Given the description of an element on the screen output the (x, y) to click on. 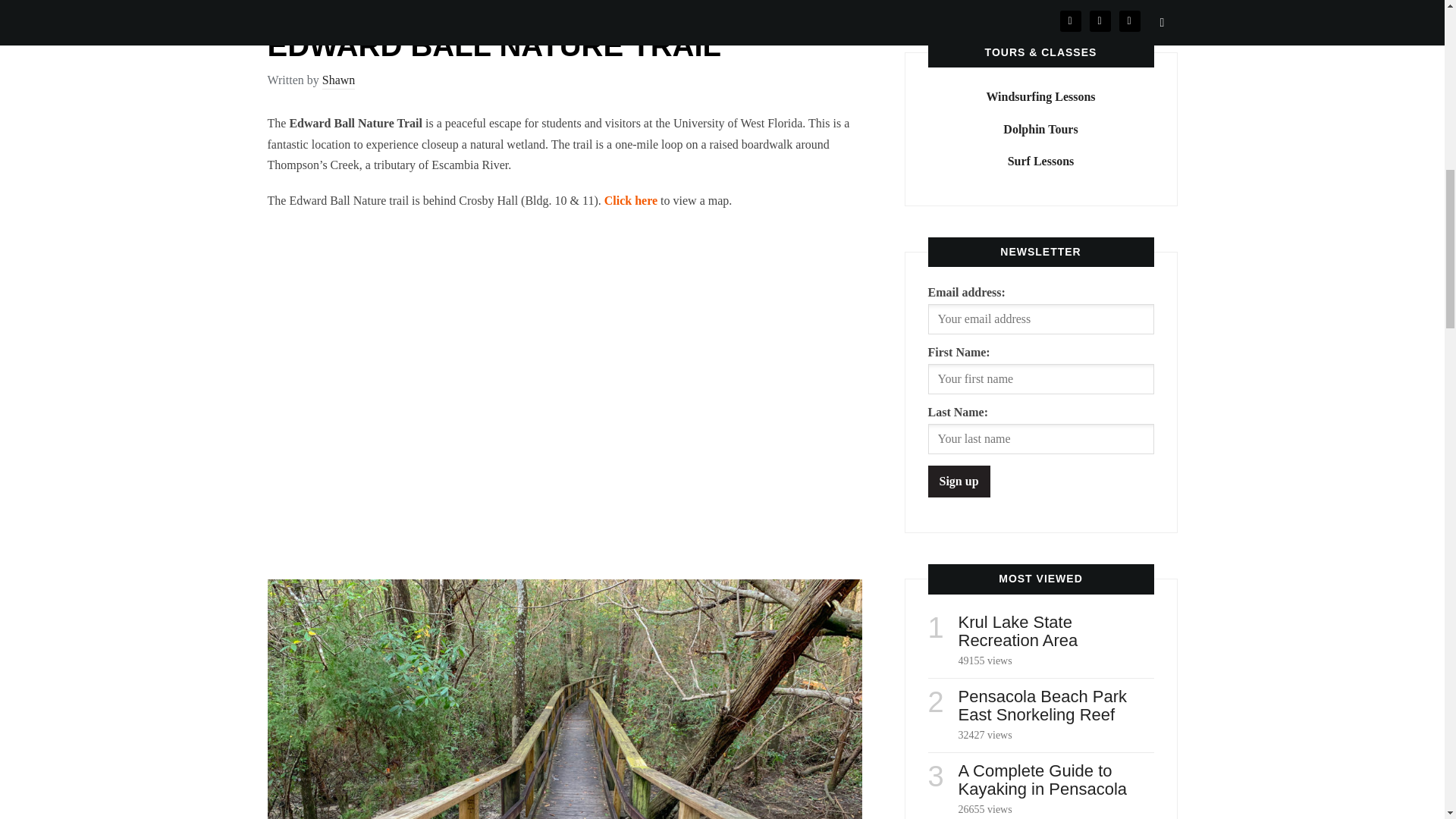
FareHarbor (1342, 64)
Sign up (959, 481)
Posts by Shawn (338, 81)
